Given the description of an element on the screen output the (x, y) to click on. 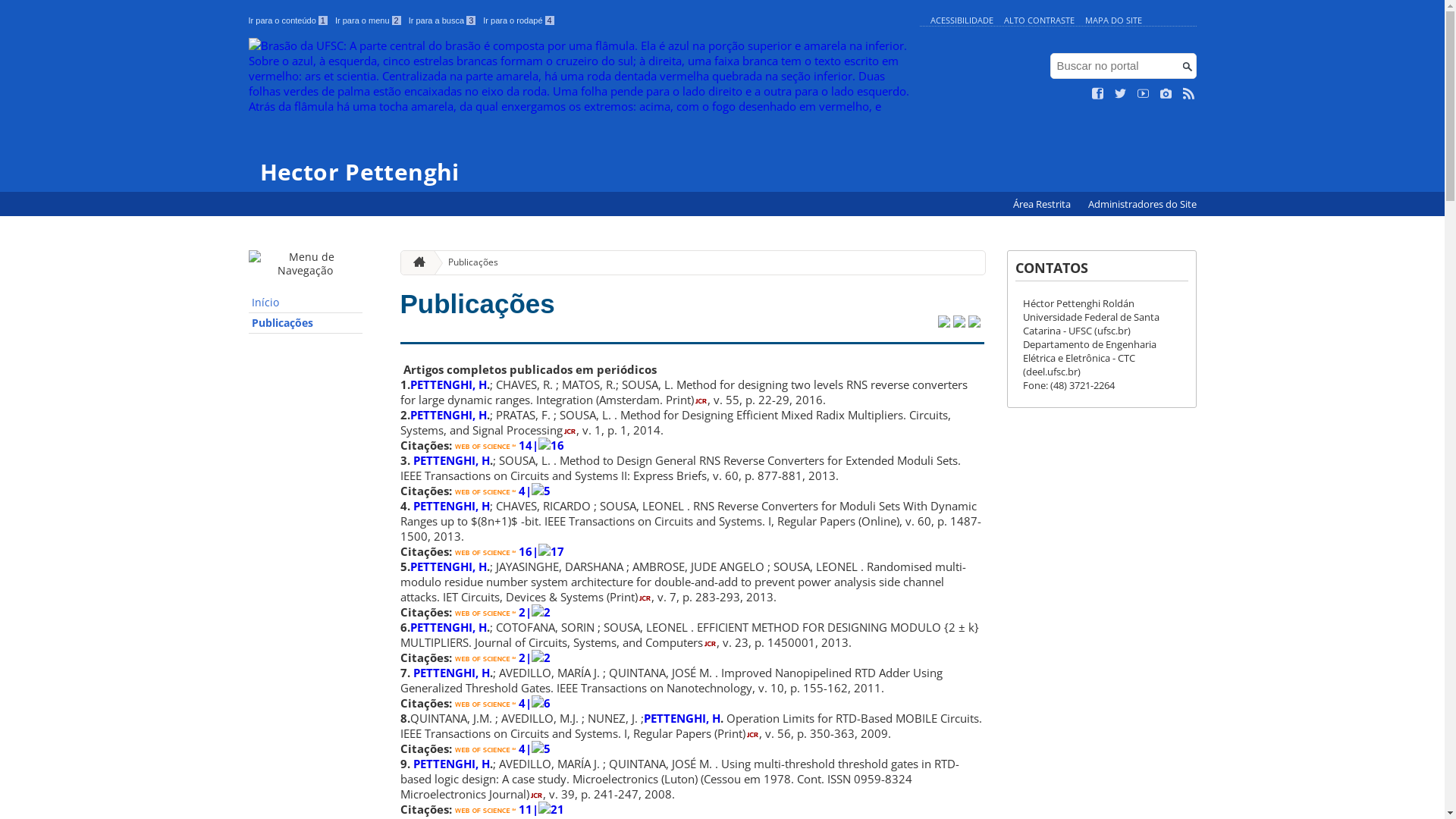
Administradores do Site Element type: text (1141, 203)
2 Element type: text (488, 657)
Compartilhar no WhatsApp Element type: hover (973, 322)
|2 Element type: text (536, 611)
4 Element type: text (488, 748)
Compartilhar no Twitter Element type: hover (943, 322)
2 Element type: text (488, 611)
PETTENGHI, H Element type: text (450, 672)
4 Element type: text (488, 702)
PETTENGHI, H Element type: text (450, 763)
|21 Element type: text (548, 808)
PETTENGHI, H Element type: text (450, 459)
PETTENGHI, H Element type: text (681, 717)
|2 Element type: text (536, 657)
Ir para a busca 3 Element type: text (442, 20)
MAPA DO SITE Element type: text (1112, 19)
ALTO CONTRASTE Element type: text (1039, 19)
PETTENGHI, H Element type: text (450, 505)
Compartilhar no Facebook Element type: hover (958, 322)
PETTENGHI, H Element type: text (447, 566)
4 Element type: text (488, 490)
PETTENGHI, H Element type: text (447, 414)
|5 Element type: text (536, 748)
|6 Element type: text (536, 702)
PETTENGHI, H Element type: text (447, 626)
Siga no Twitter Element type: hover (1120, 93)
14 Element type: text (491, 444)
|17 Element type: text (548, 550)
Ir para o menu 2 Element type: text (368, 20)
Curta no Facebook Element type: hover (1098, 93)
Veja no Instagram Element type: hover (1166, 93)
16 Element type: text (491, 550)
|5 Element type: text (536, 490)
ACESSIBILIDADE Element type: text (960, 19)
11 Element type: text (491, 808)
|16 Element type: text (548, 444)
PETTENGHI, H Element type: text (447, 384)
Hector Pettenghi Element type: text (580, 110)
